Given the description of an element on the screen output the (x, y) to click on. 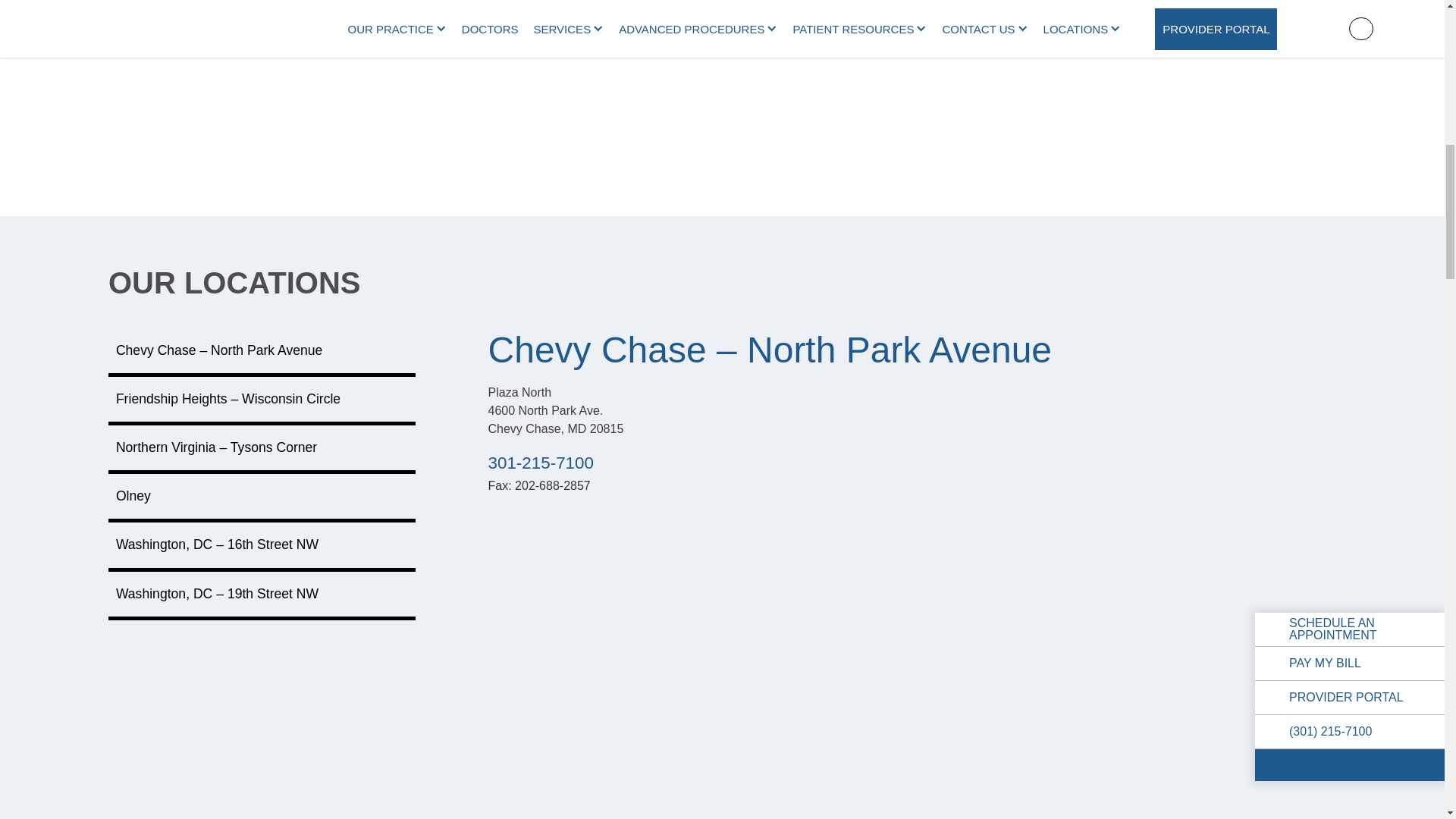
Olney - Click to see info (260, 498)
